Given the description of an element on the screen output the (x, y) to click on. 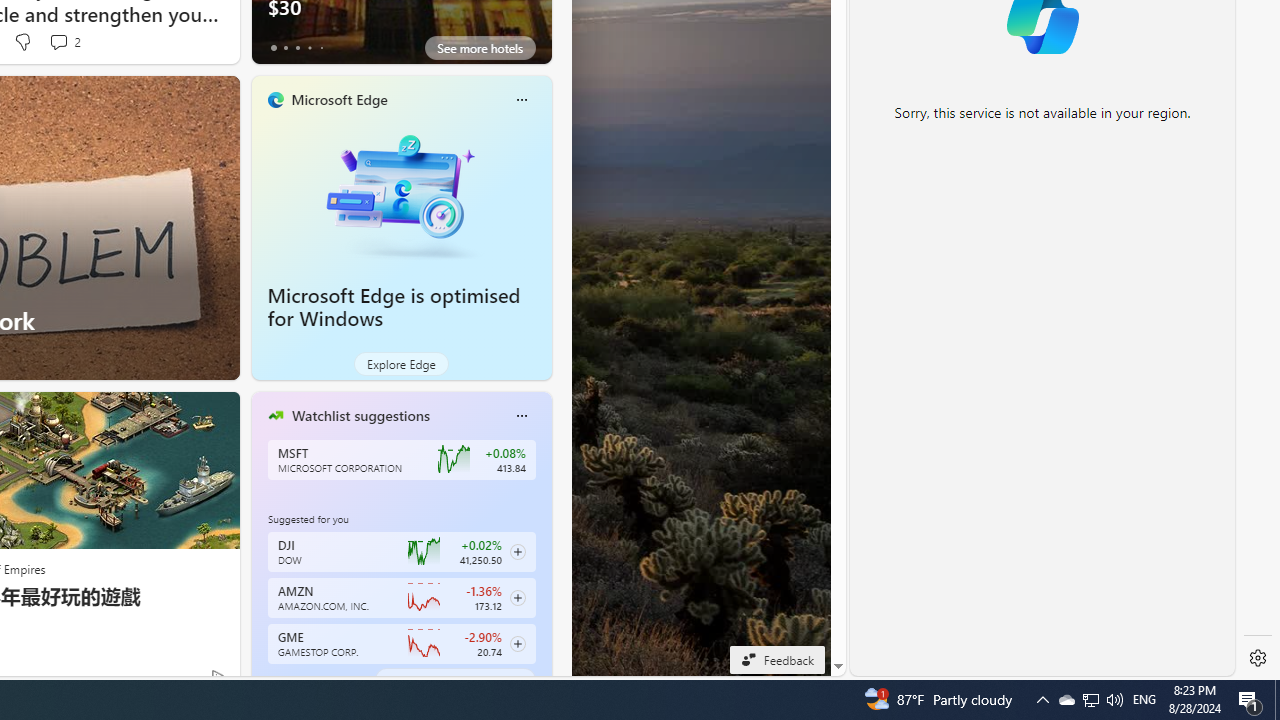
Feedback (777, 659)
Class: icon-img (521, 416)
See more hotels (479, 47)
tab-2 (297, 679)
tab-3 (309, 679)
Microsoft Edge is optimised for Windows (401, 193)
Dislike (21, 42)
Ad Choice (217, 675)
Class: follow-button  m (517, 643)
